Given the description of an element on the screen output the (x, y) to click on. 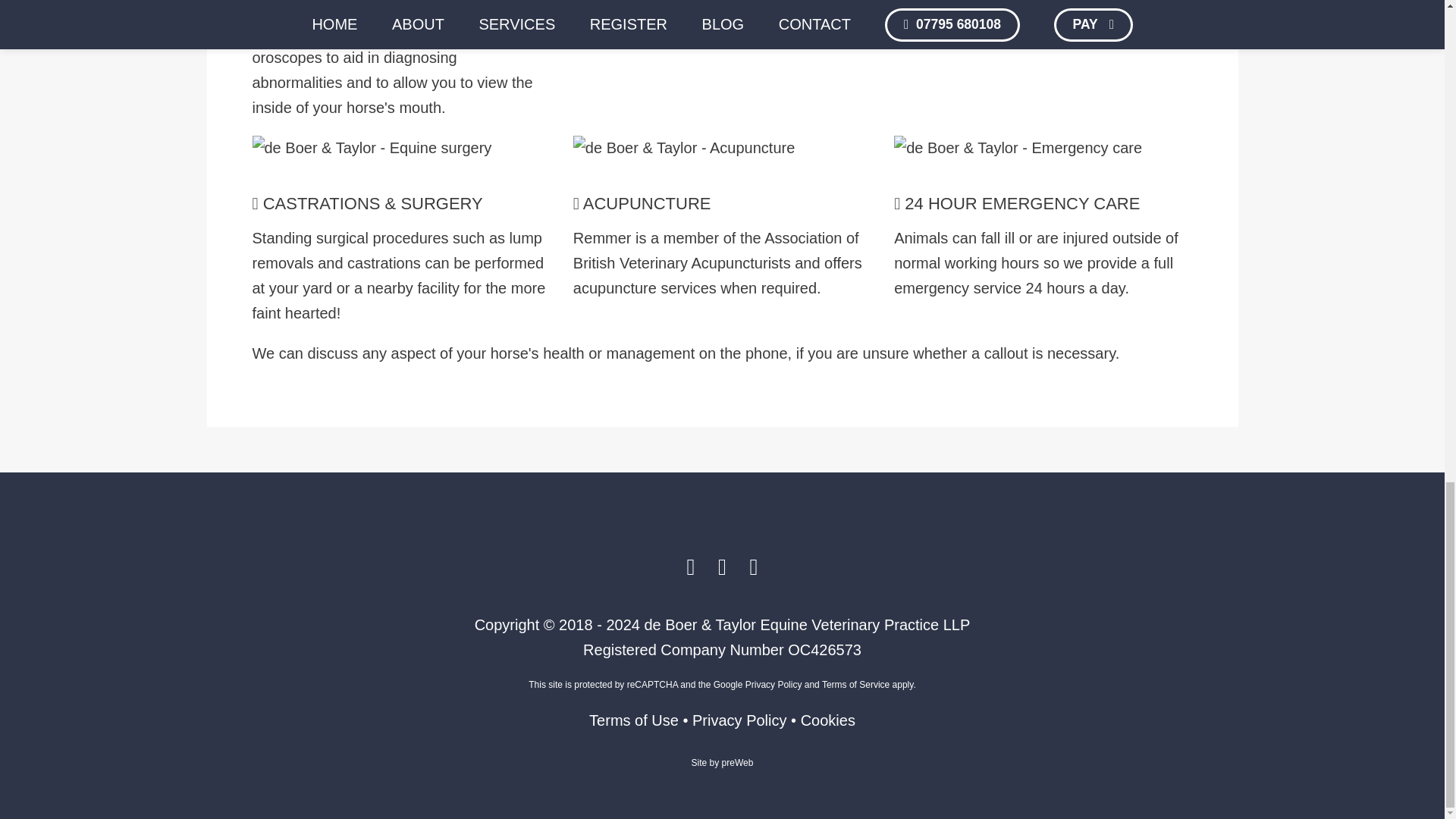
Site by preWeb (722, 762)
Privacy Policy (773, 684)
Terms of Use (633, 719)
Terms of Service (855, 684)
Privacy Policy (739, 719)
Cookies (828, 719)
